Given the description of an element on the screen output the (x, y) to click on. 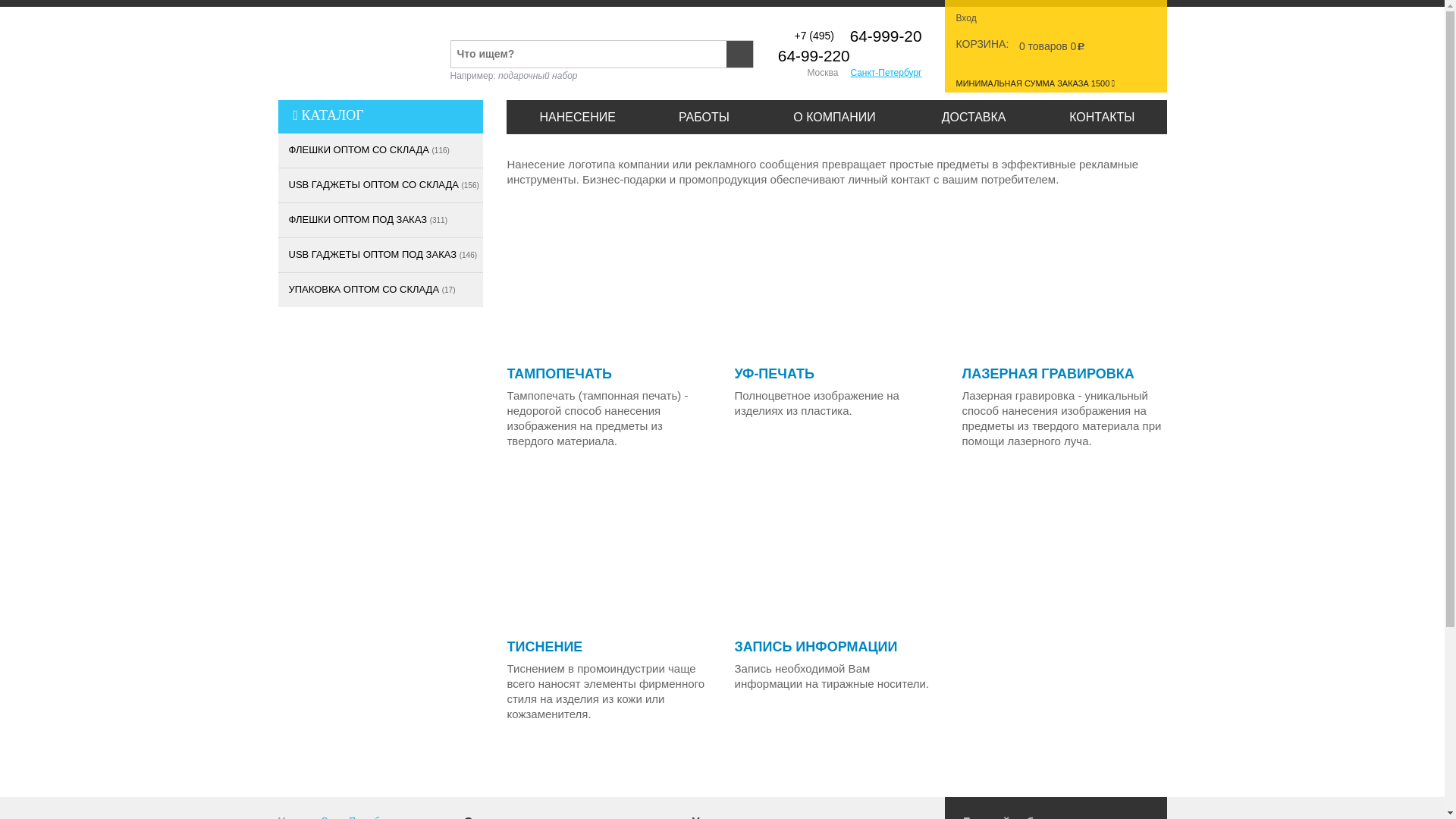
. Element type: text (379, 659)
